Given the description of an element on the screen output the (x, y) to click on. 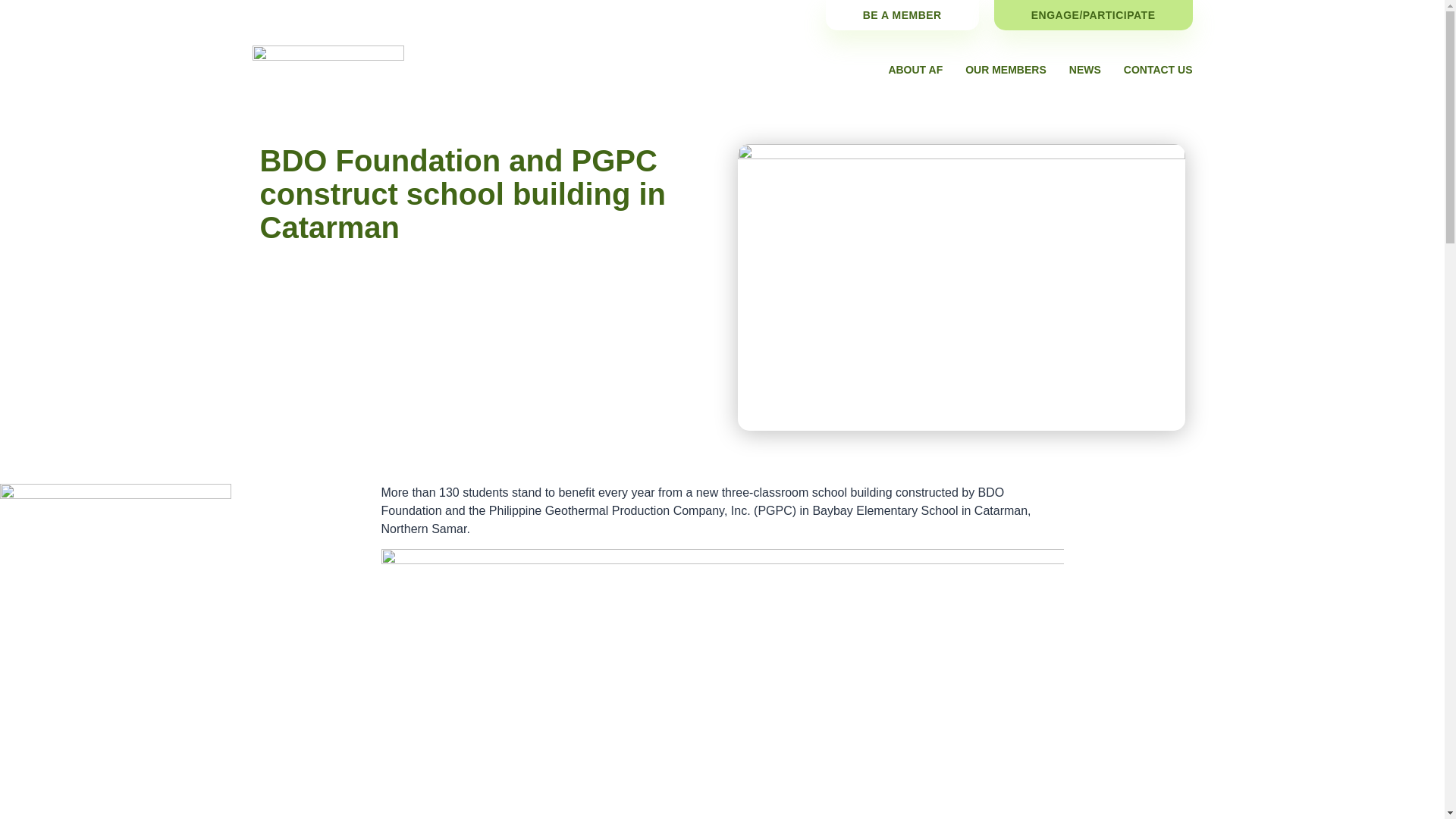
OUR MEMBERS (1005, 69)
ABOUT AF (915, 69)
BE A MEMBER (901, 15)
CONTACT US (1158, 69)
NEWS (1084, 69)
